Given the description of an element on the screen output the (x, y) to click on. 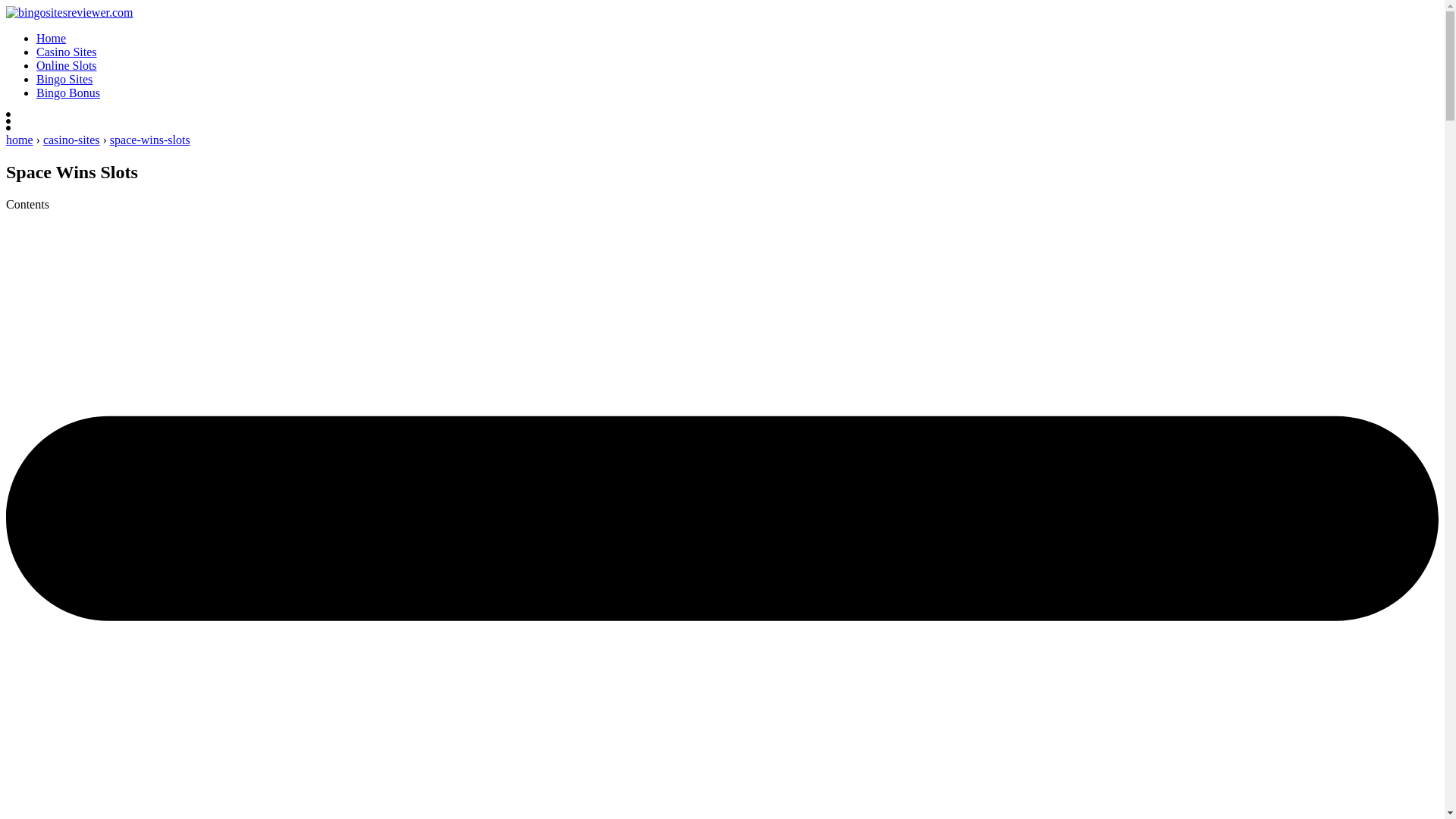
Home (50, 38)
Casino Sites (66, 51)
Bingo Sites (64, 78)
home (19, 139)
space-wins-slots (150, 139)
casino-sites (71, 139)
Bingo Bonus (68, 92)
Online Slots (66, 65)
